Given the description of an element on the screen output the (x, y) to click on. 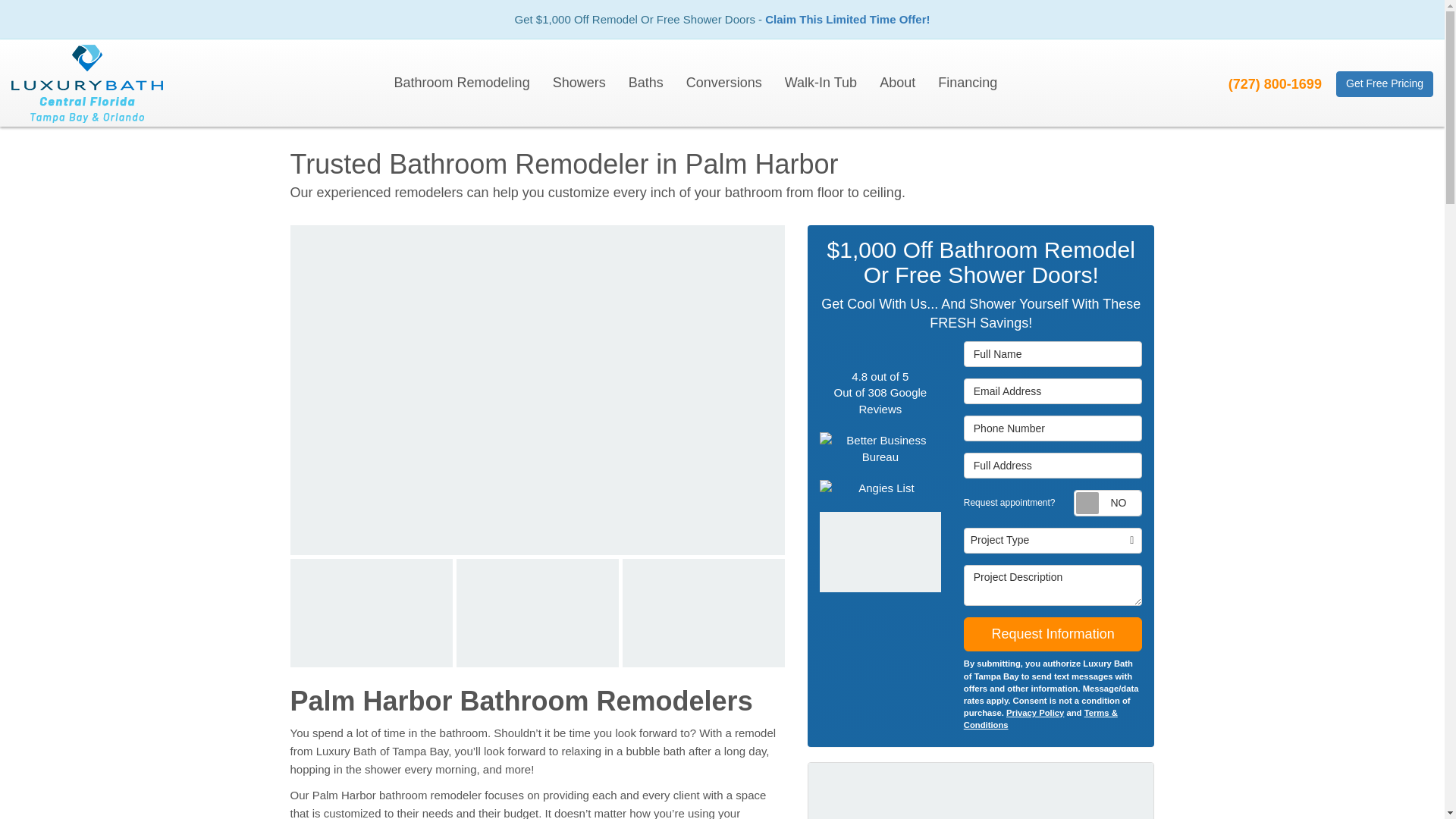
Get Free Pricing (1384, 84)
Get Free Pricing (1384, 84)
Bathroom Remodeling (461, 82)
Financing (967, 82)
Walk-In Tub (820, 82)
Claim This Limited Time Offer! (847, 19)
Conversions (724, 82)
